Given the description of an element on the screen output the (x, y) to click on. 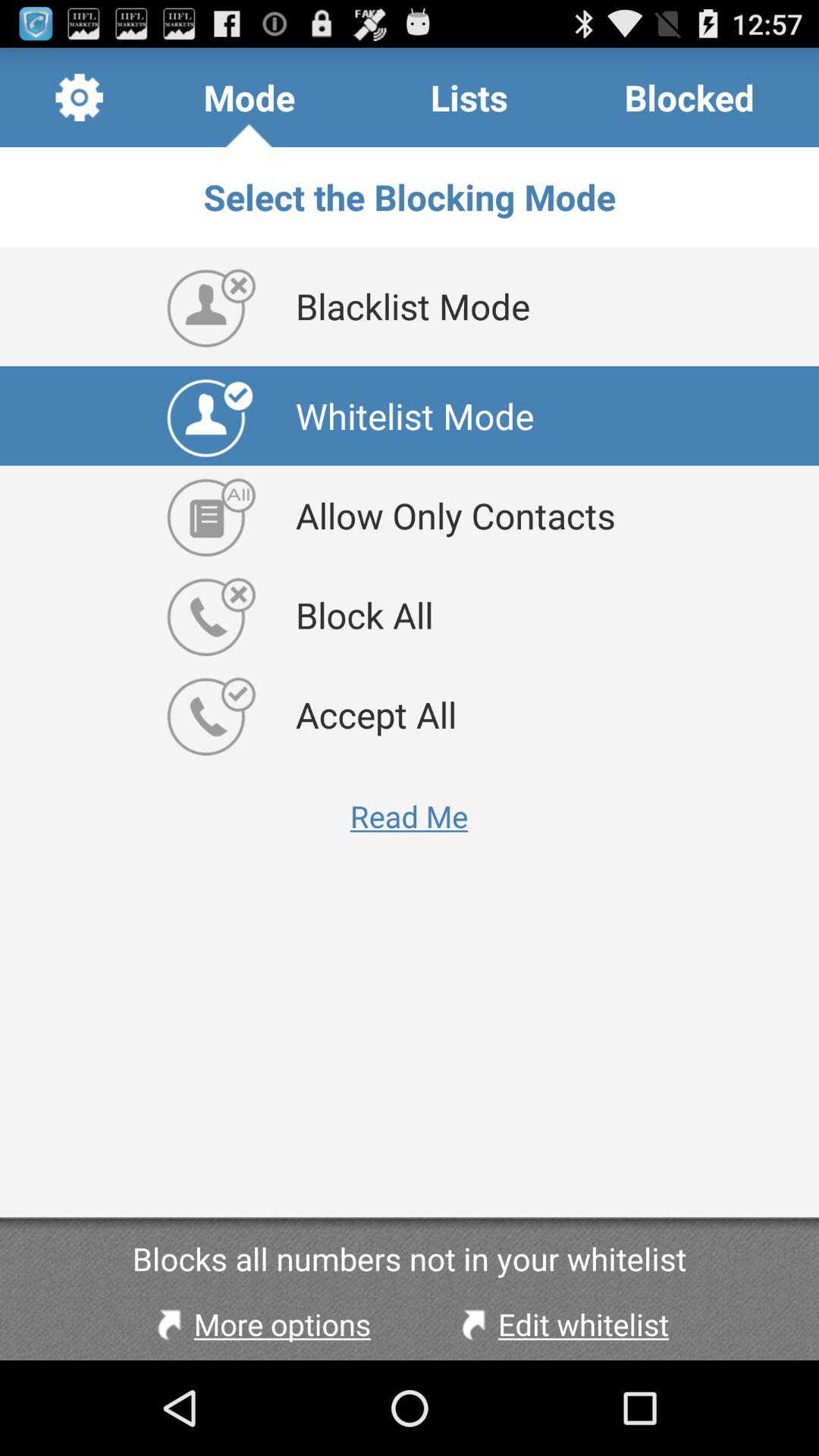
swipe until the lists icon (469, 97)
